Given the description of an element on the screen output the (x, y) to click on. 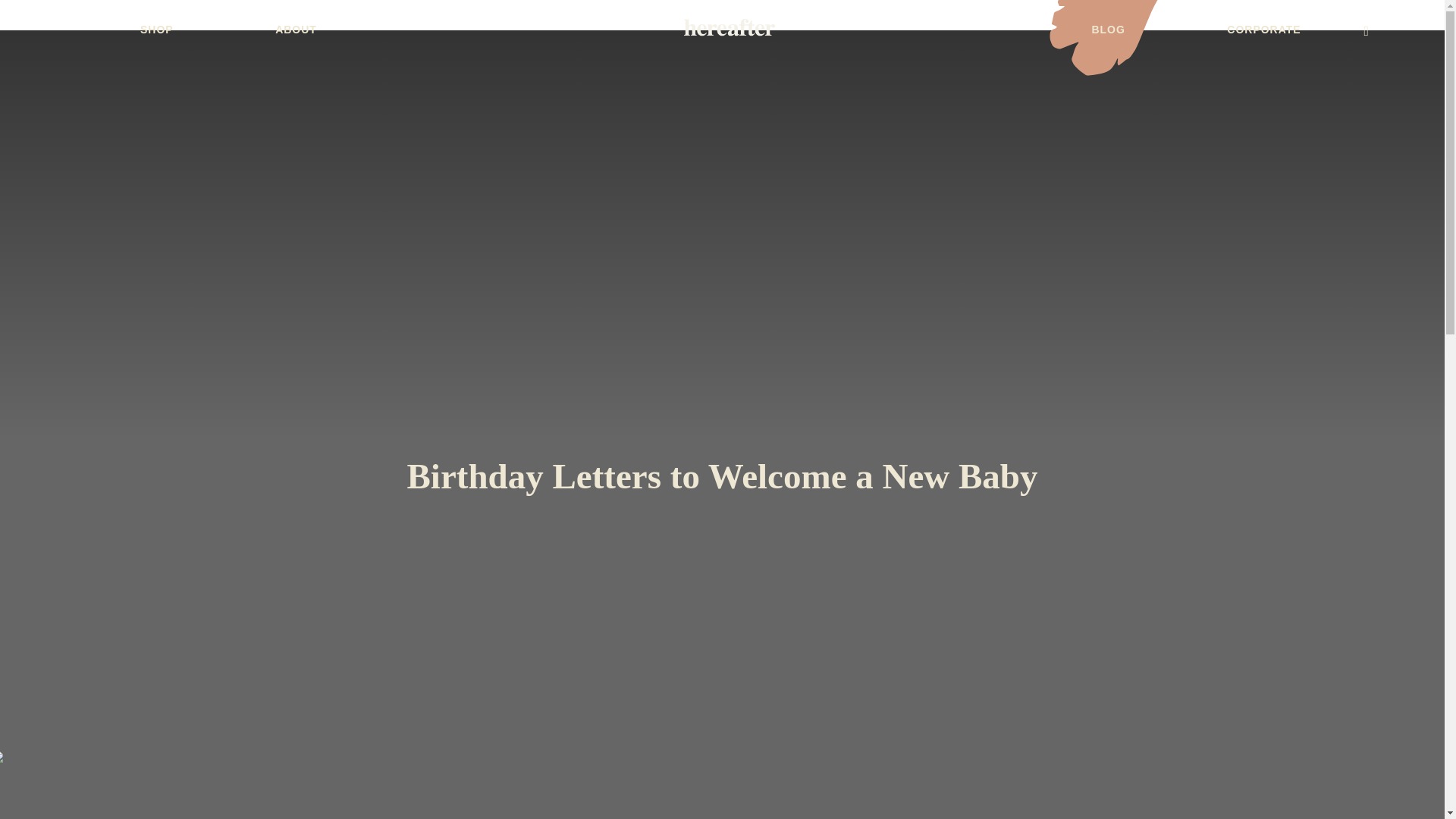
ABOUT (296, 30)
BLOG (1107, 30)
Hereafter (729, 27)
CORPORATE (1262, 30)
SHOP (156, 30)
